Given the description of an element on the screen output the (x, y) to click on. 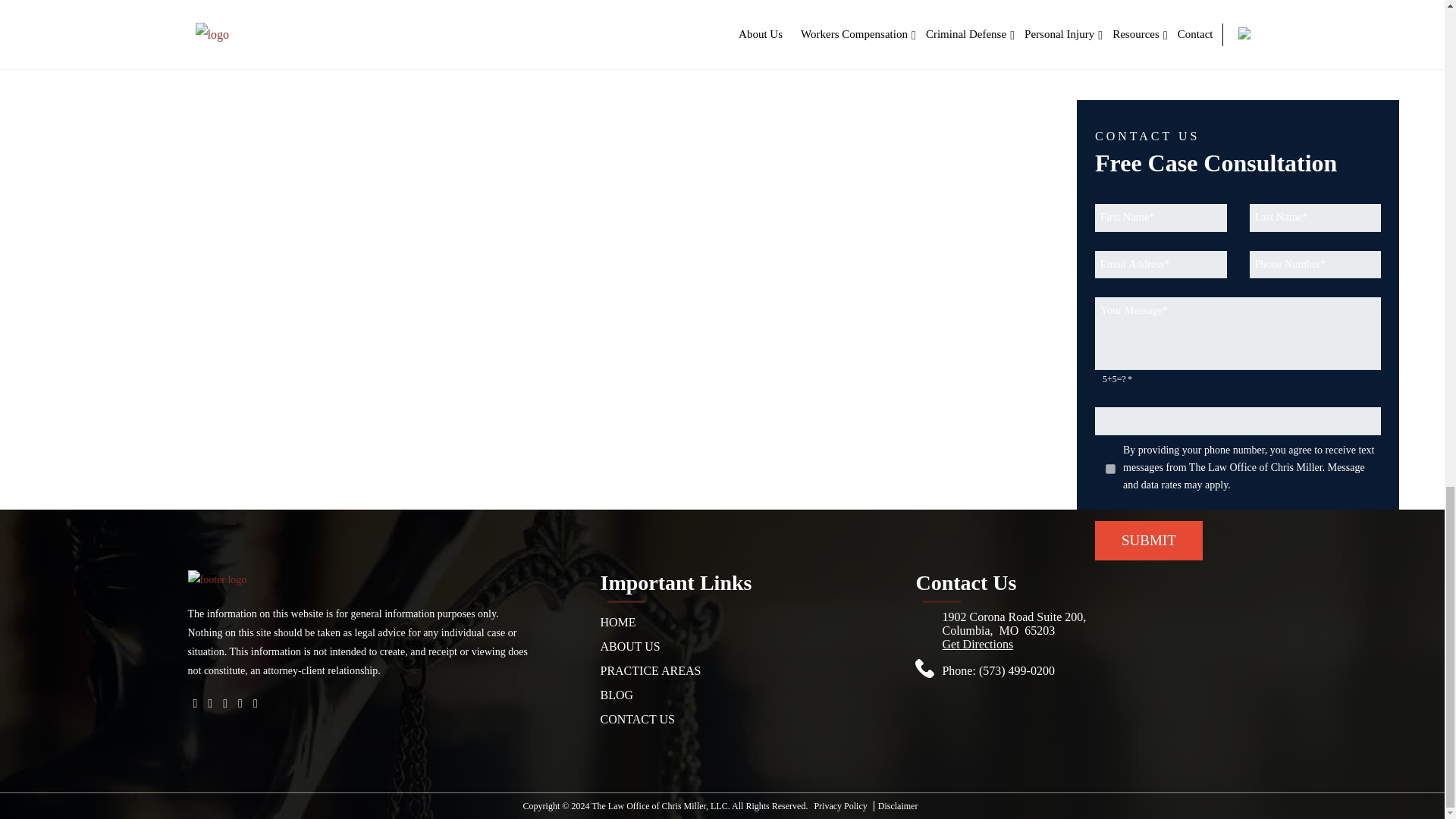
Submit (1148, 540)
